Given the description of an element on the screen output the (x, y) to click on. 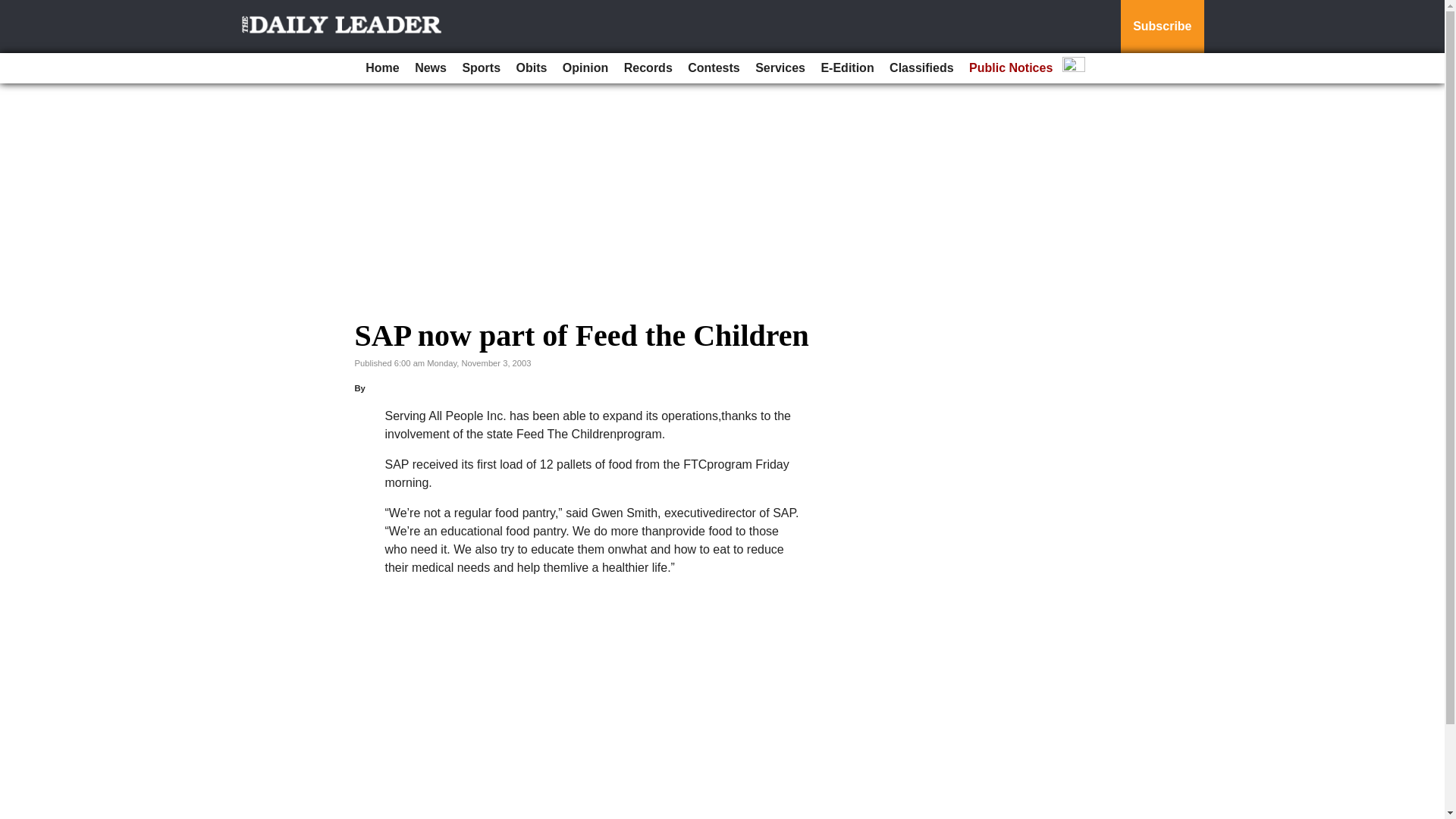
Classifieds (921, 68)
Public Notices (1010, 68)
Obits (532, 68)
Records (647, 68)
News (430, 68)
Home (381, 68)
Go (13, 9)
Subscribe (1162, 26)
Services (779, 68)
Sports (480, 68)
